Given the description of an element on the screen output the (x, y) to click on. 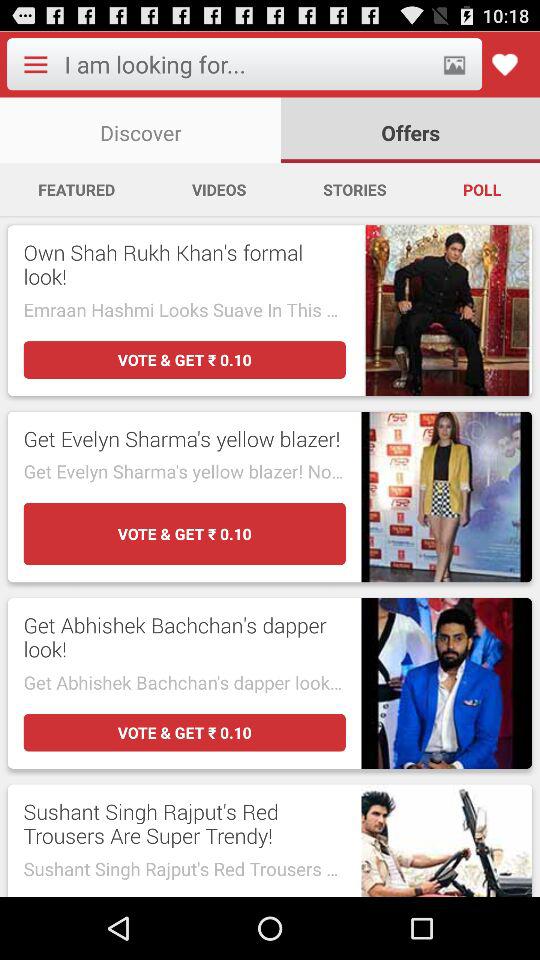
add picture (453, 63)
